Given the description of an element on the screen output the (x, y) to click on. 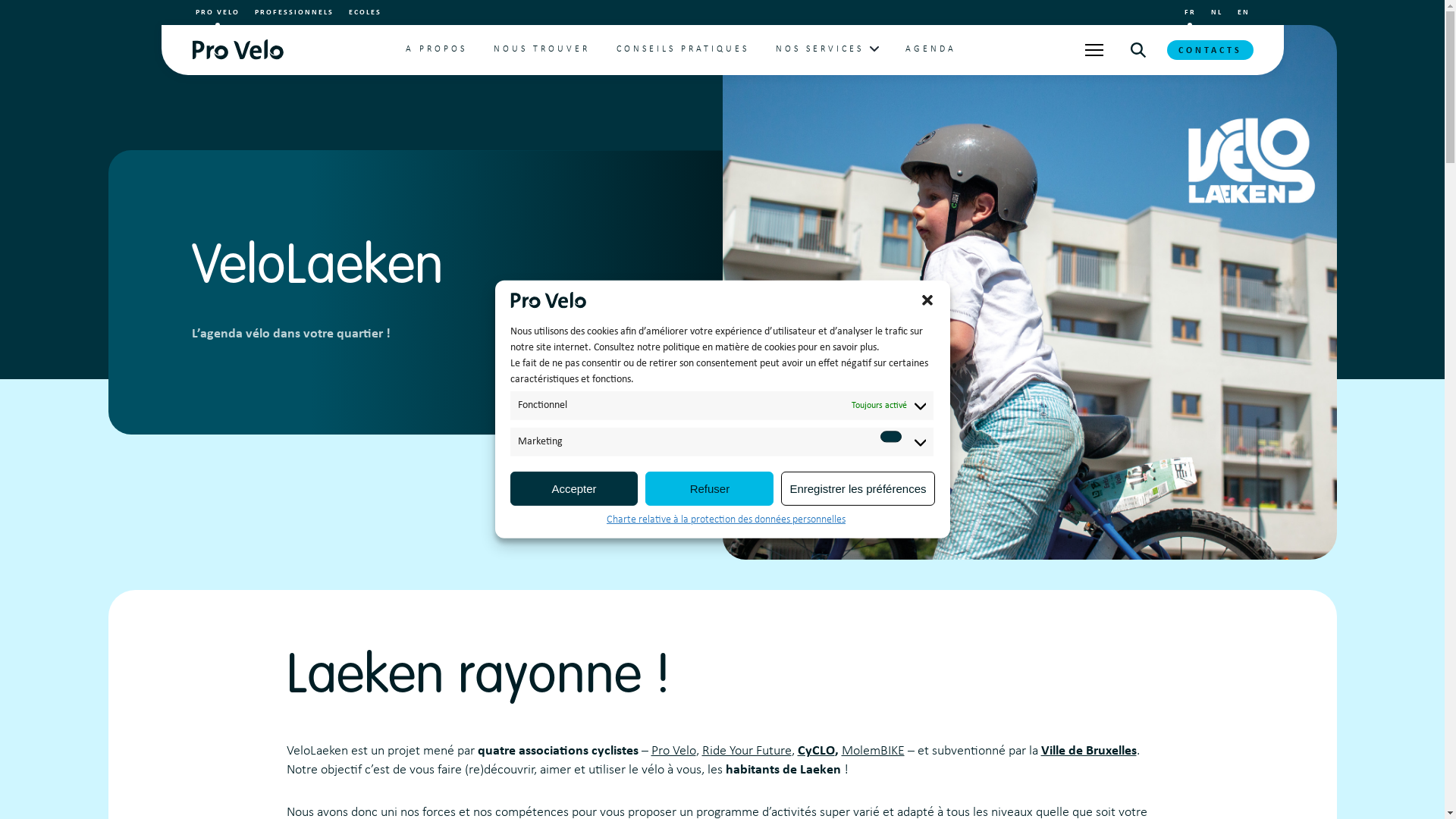
Refuser Element type: text (709, 488)
NOUS TROUVER Element type: text (541, 49)
EN Element type: text (1243, 12)
CyCLO Element type: text (815, 750)
Rechercher Element type: text (1137, 49)
PRO VELO Element type: text (217, 12)
MolemBIKE Element type: text (872, 750)
NL Element type: text (1215, 12)
FR Element type: text (1189, 12)
A PROPOS Element type: text (436, 49)
Ride Your Future Element type: text (746, 750)
Pro Velo Element type: text (672, 750)
PROFESSIONNELS Element type: text (293, 12)
Accepter Element type: text (573, 488)
CONTACTS Element type: text (1209, 49)
ECOLES Element type: text (364, 12)
CONSEILS PRATIQUES Element type: text (682, 49)
Accueil Element type: hover (236, 49)
NOS SERVICES Element type: text (819, 49)
AGENDA Element type: text (930, 49)
Ville de Bruxelles Element type: text (1087, 750)
